Given the description of an element on the screen output the (x, y) to click on. 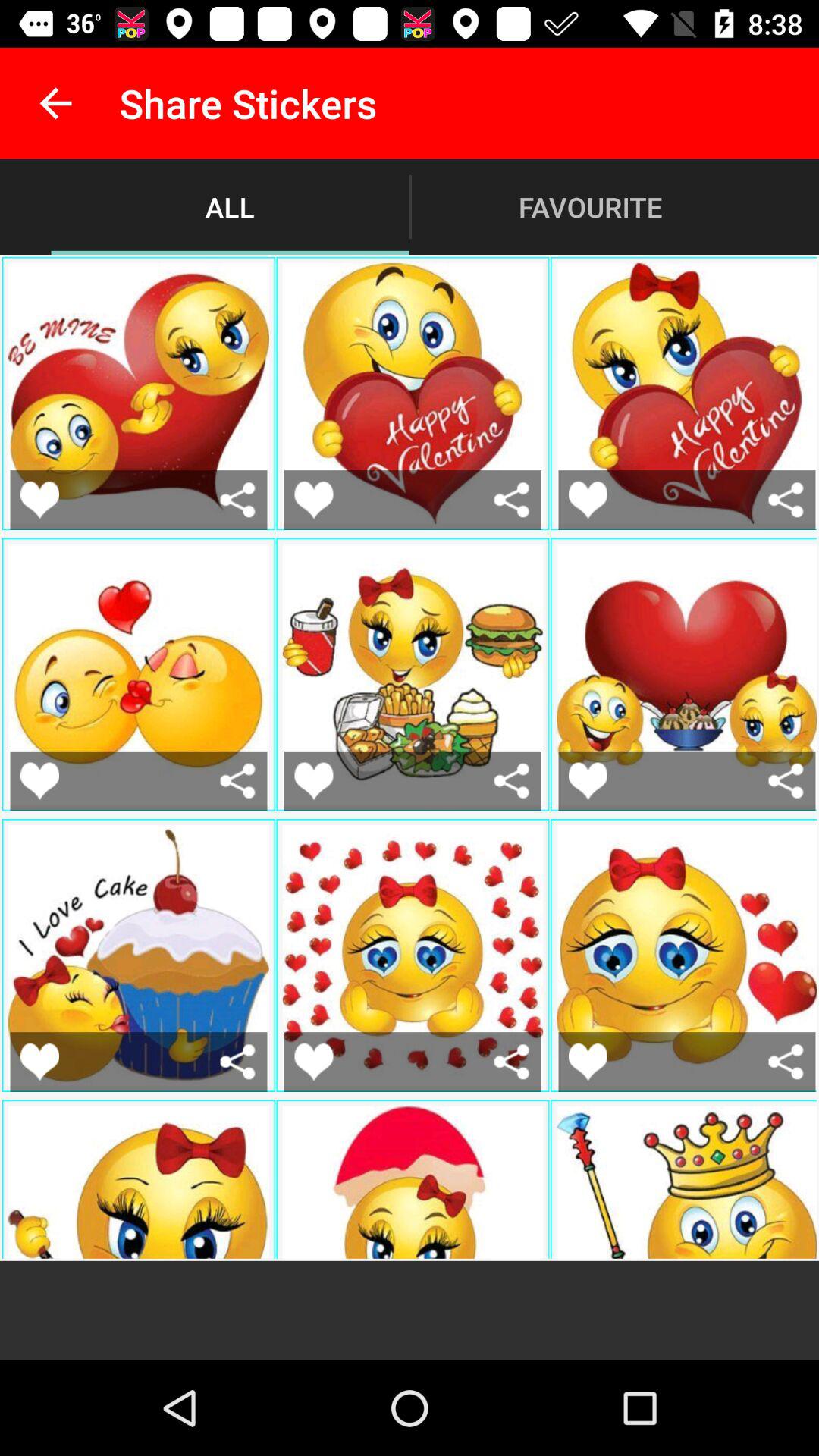
favorite this sticker (587, 1061)
